Given the description of an element on the screen output the (x, y) to click on. 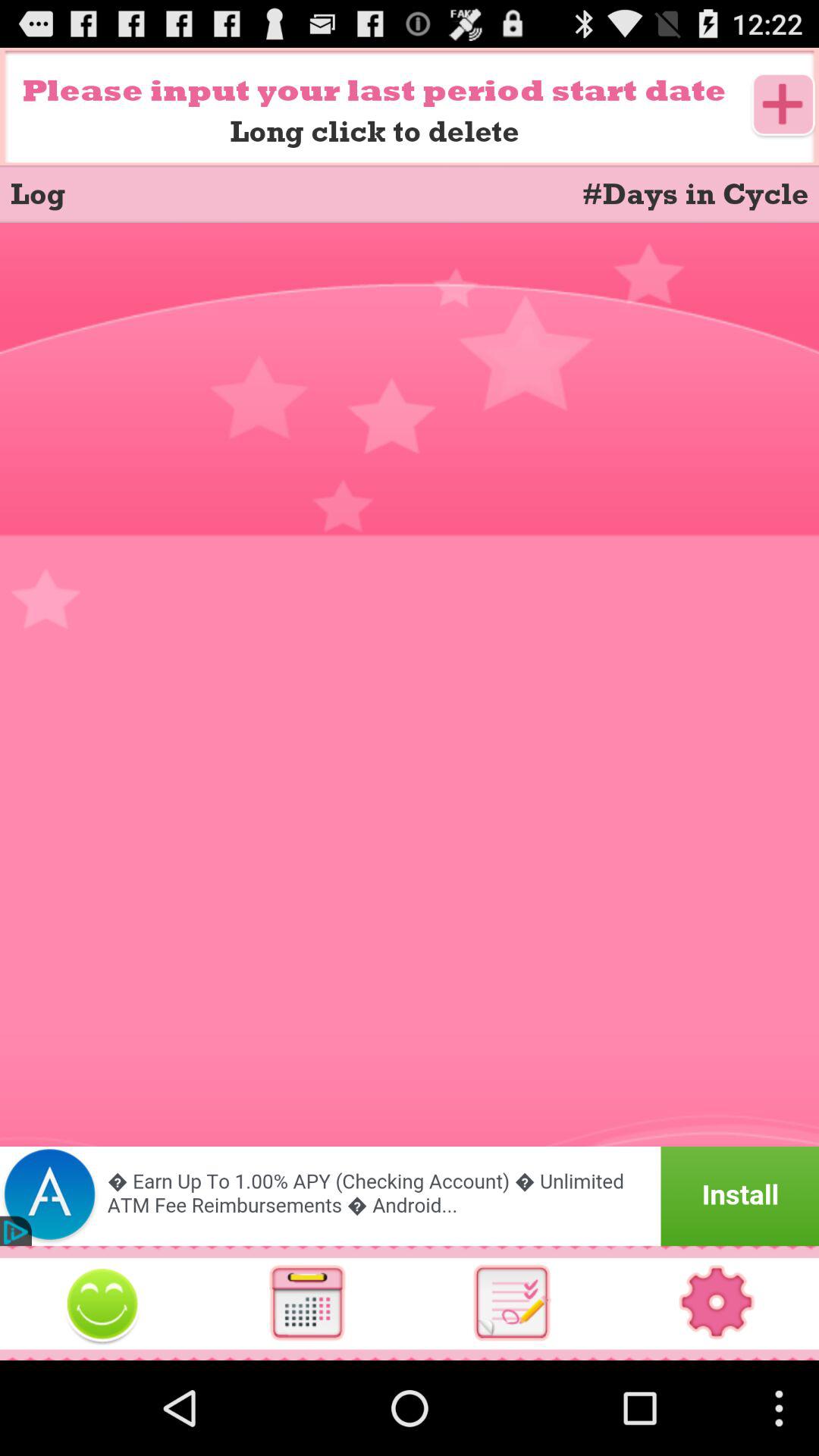
go to settings (716, 1302)
